Given the description of an element on the screen output the (x, y) to click on. 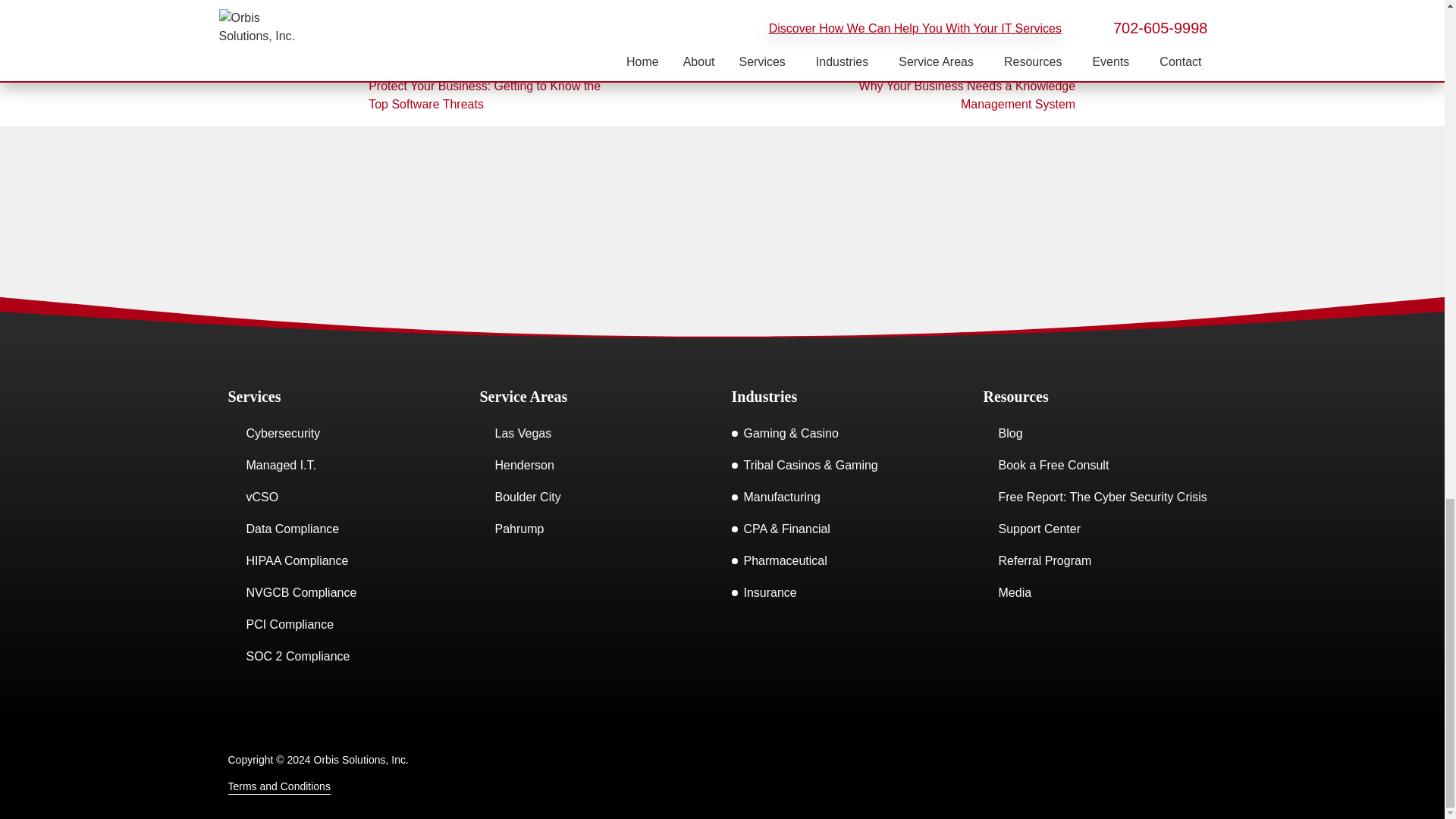
LinkedIn (772, 773)
Facebook (671, 773)
YouTube (738, 773)
